Given the description of an element on the screen output the (x, y) to click on. 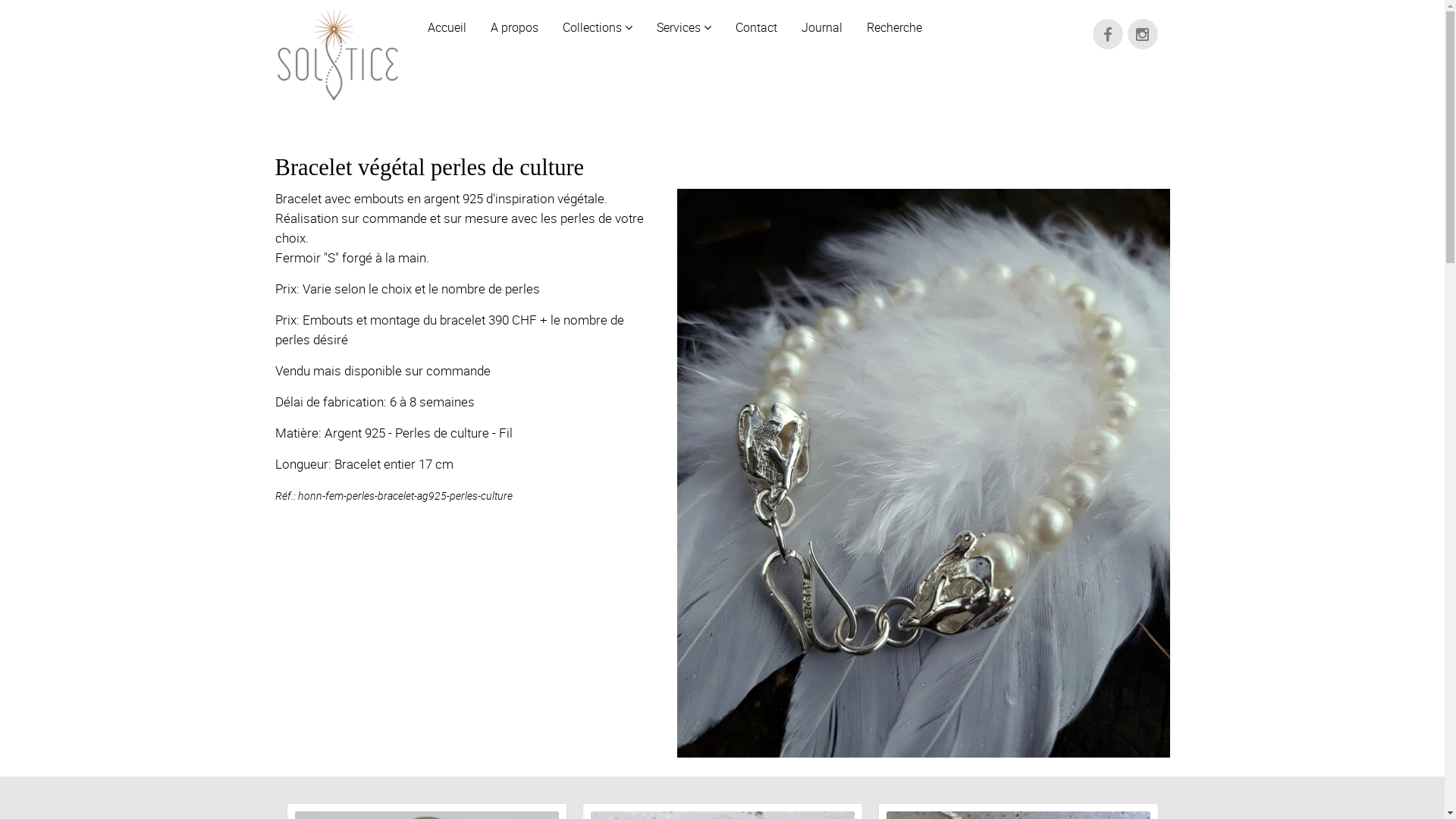
Contact Element type: text (756, 21)
Accueil Element type: text (446, 21)
Journal Element type: text (821, 21)
Services Element type: text (683, 21)
Recherche Element type: text (893, 21)
A propos Element type: text (513, 21)
Collections Element type: text (597, 21)
Atelier Solstice Element type: hover (336, 54)
